Given the description of an element on the screen output the (x, y) to click on. 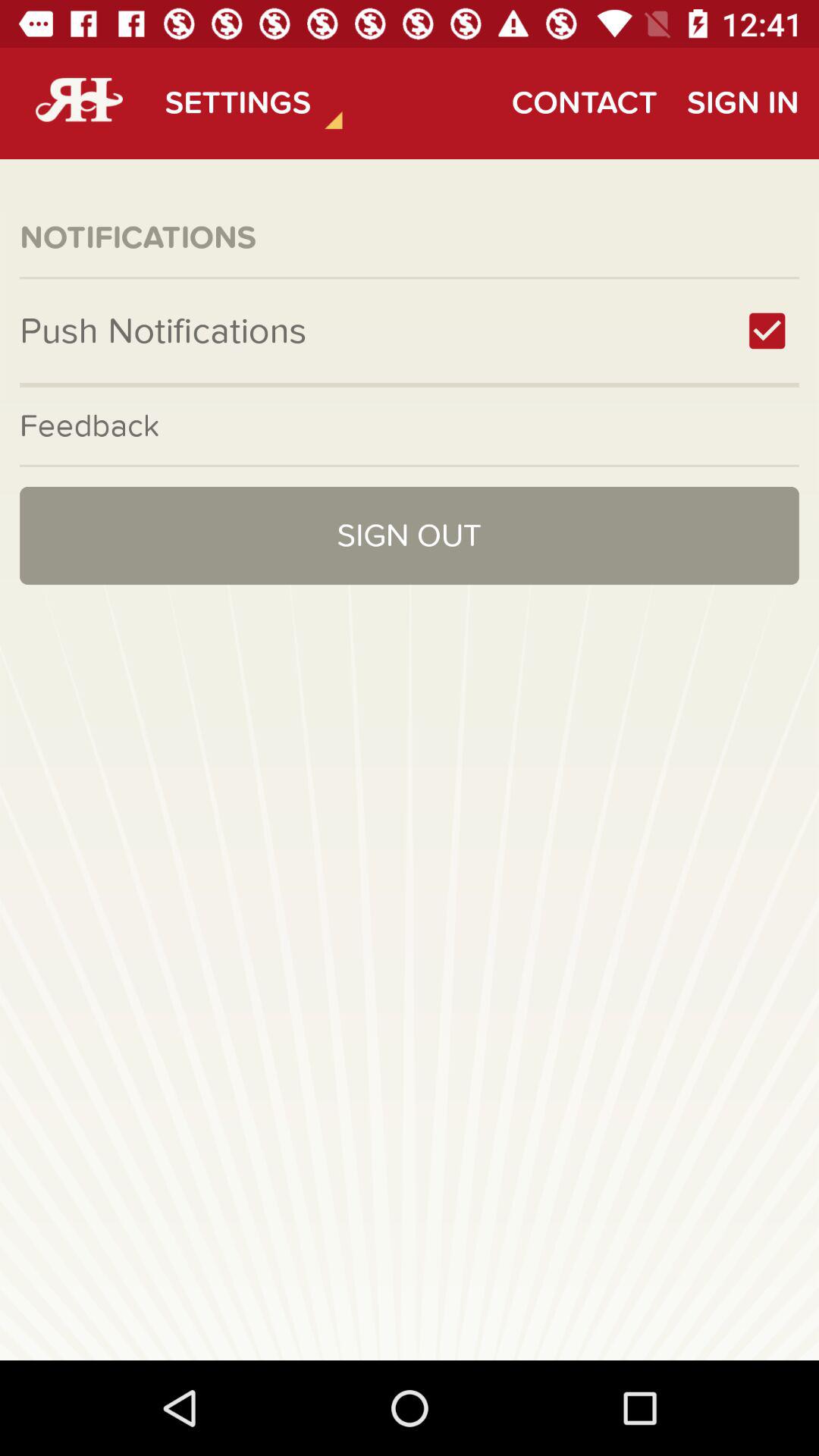
launch the item next to the sign in icon (583, 103)
